Given the description of an element on the screen output the (x, y) to click on. 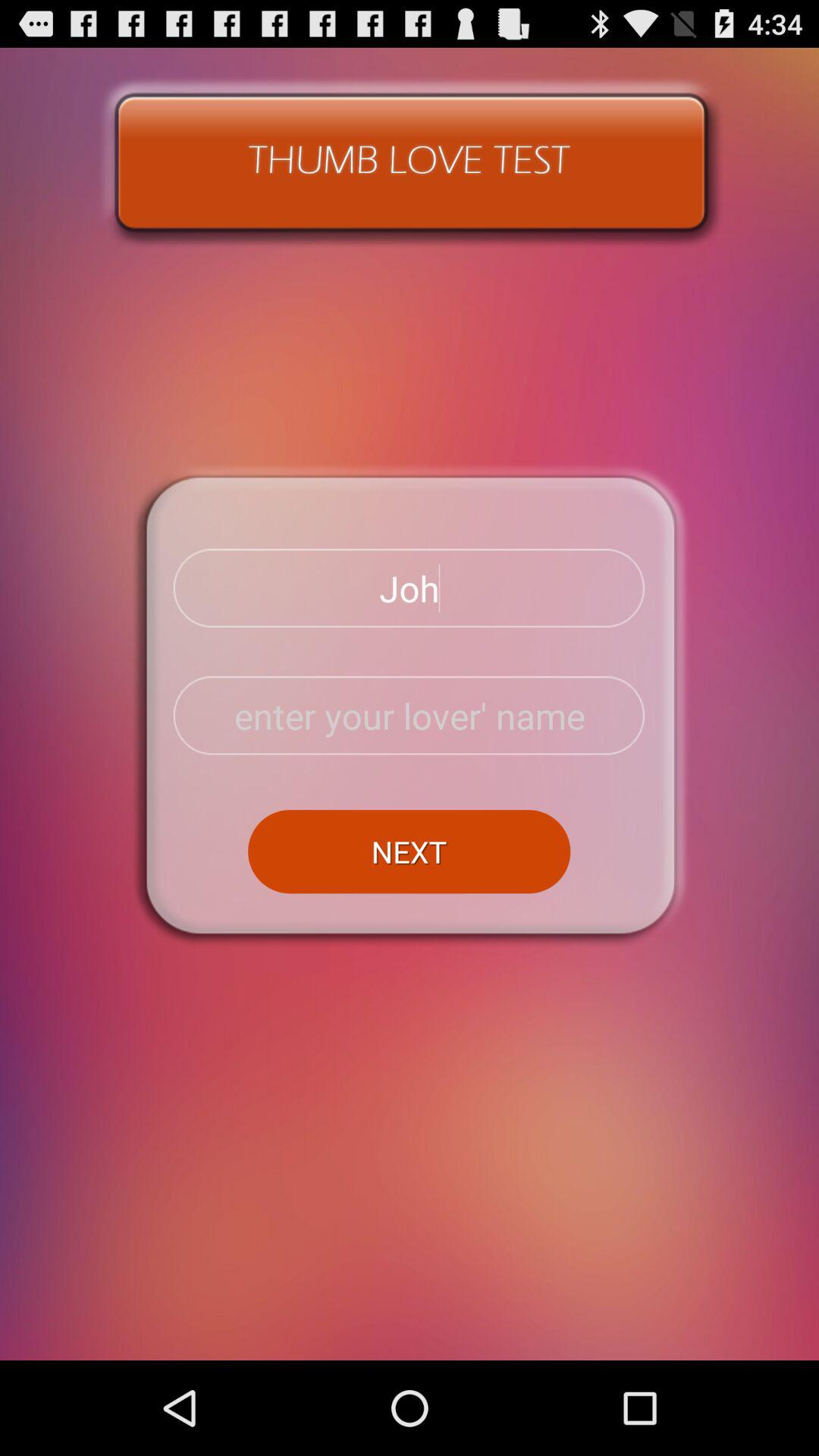
name button (409, 715)
